Given the description of an element on the screen output the (x, y) to click on. 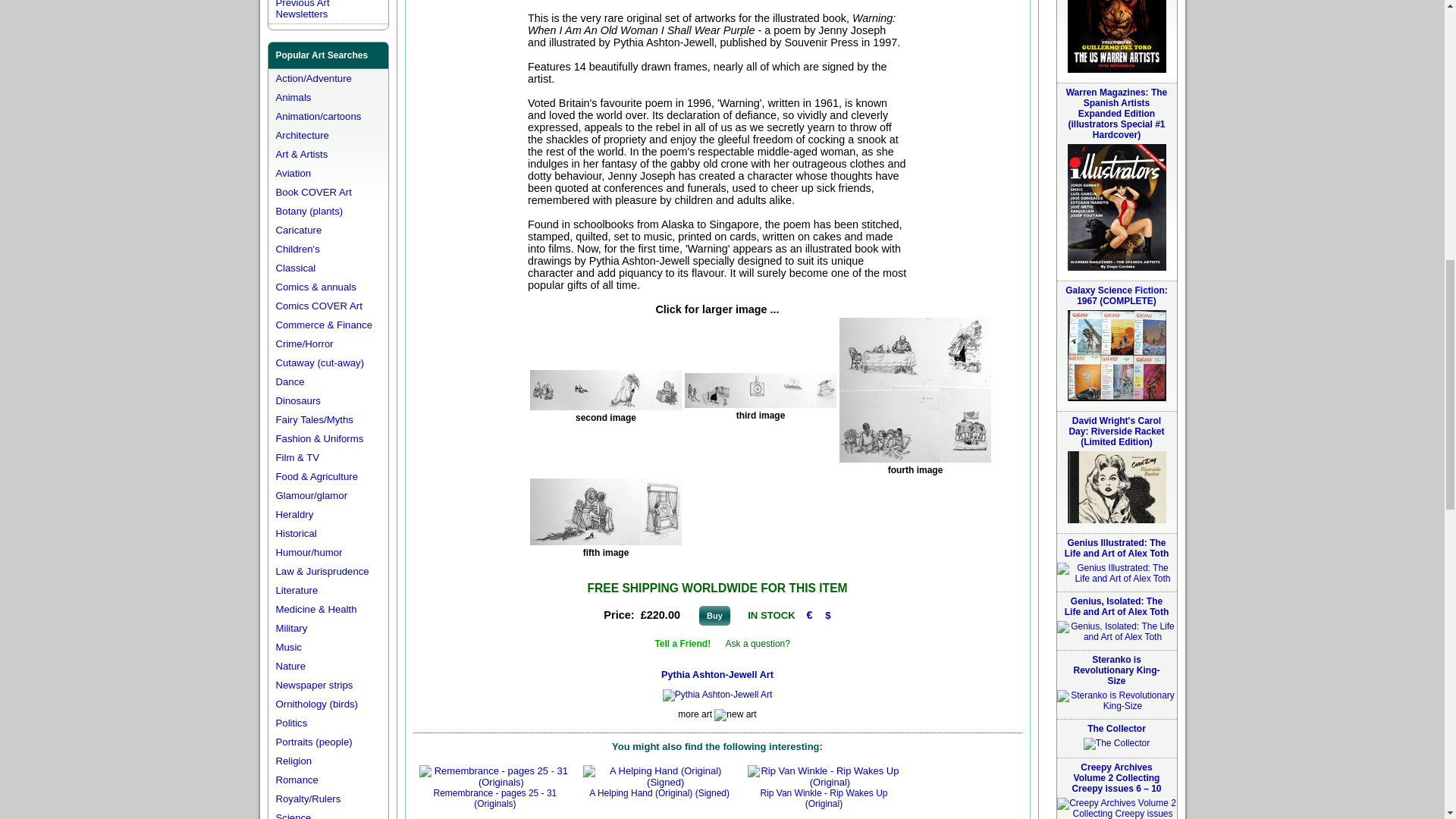
Buy (714, 615)
